Given the description of an element on the screen output the (x, y) to click on. 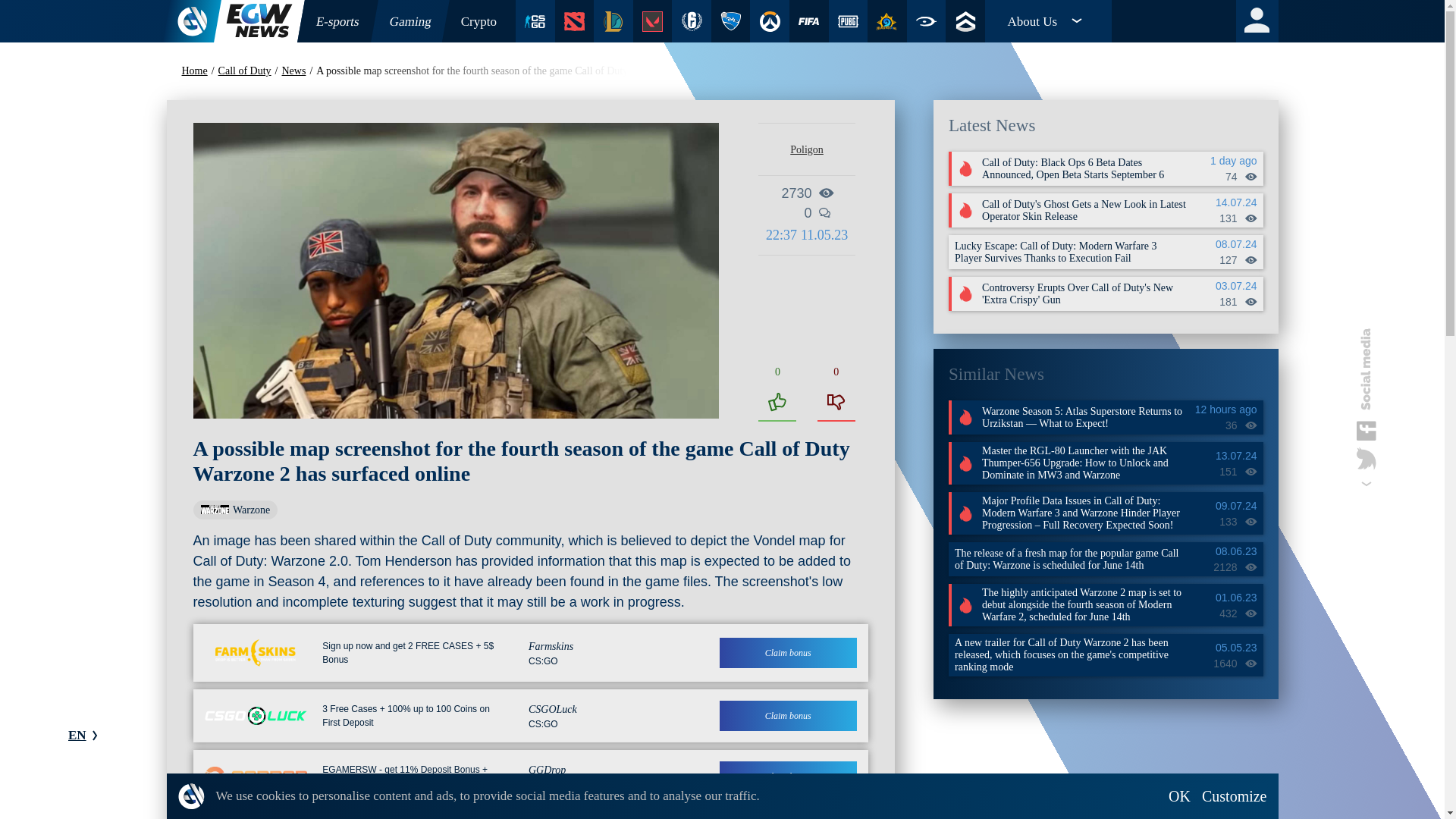
Tuesday, July 16, 2024 at 4:31:03 PM (1222, 160)
Gaming (406, 21)
Warzone (235, 509)
Call of Duty (248, 70)
Claim bonus (788, 716)
Crypto (478, 21)
E-sports (334, 21)
Wednesday, July 17, 2024 at 2:49:37 PM (1222, 409)
Claim bonus (788, 776)
Claim bonus (788, 653)
News (297, 70)
Poligon (807, 149)
